Given the description of an element on the screen output the (x, y) to click on. 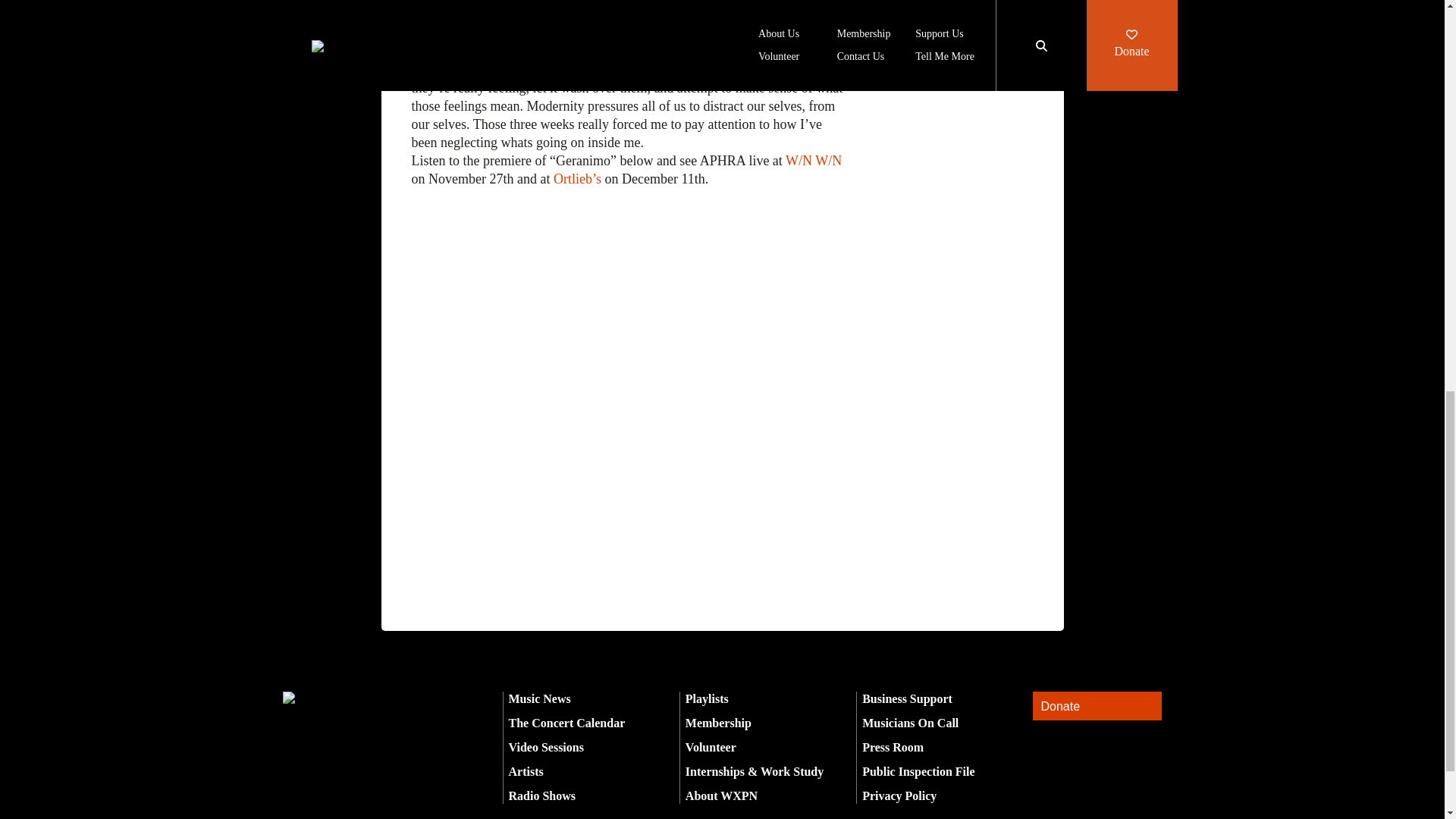
Playlists (707, 698)
The Concert Calendar (566, 722)
Privacy Policy (898, 795)
Business Support (906, 698)
Public Inspection File (917, 771)
About WXPN (721, 795)
Press Room (892, 747)
Artists (525, 771)
Volunteer (710, 747)
Musicians On Call (909, 722)
